Given the description of an element on the screen output the (x, y) to click on. 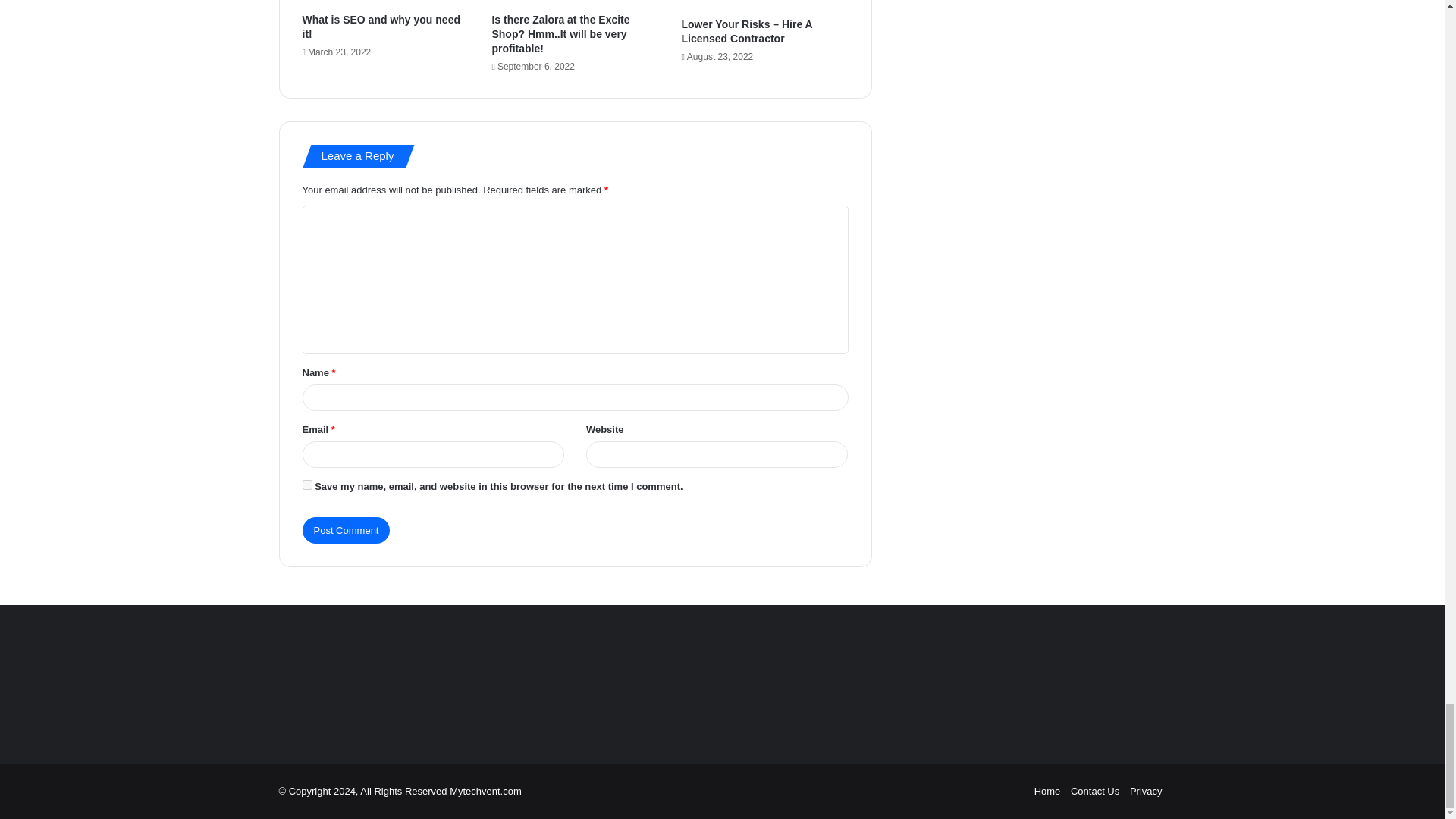
yes (306, 484)
Post Comment (345, 529)
What is SEO and why you need it! (380, 26)
